Given the description of an element on the screen output the (x, y) to click on. 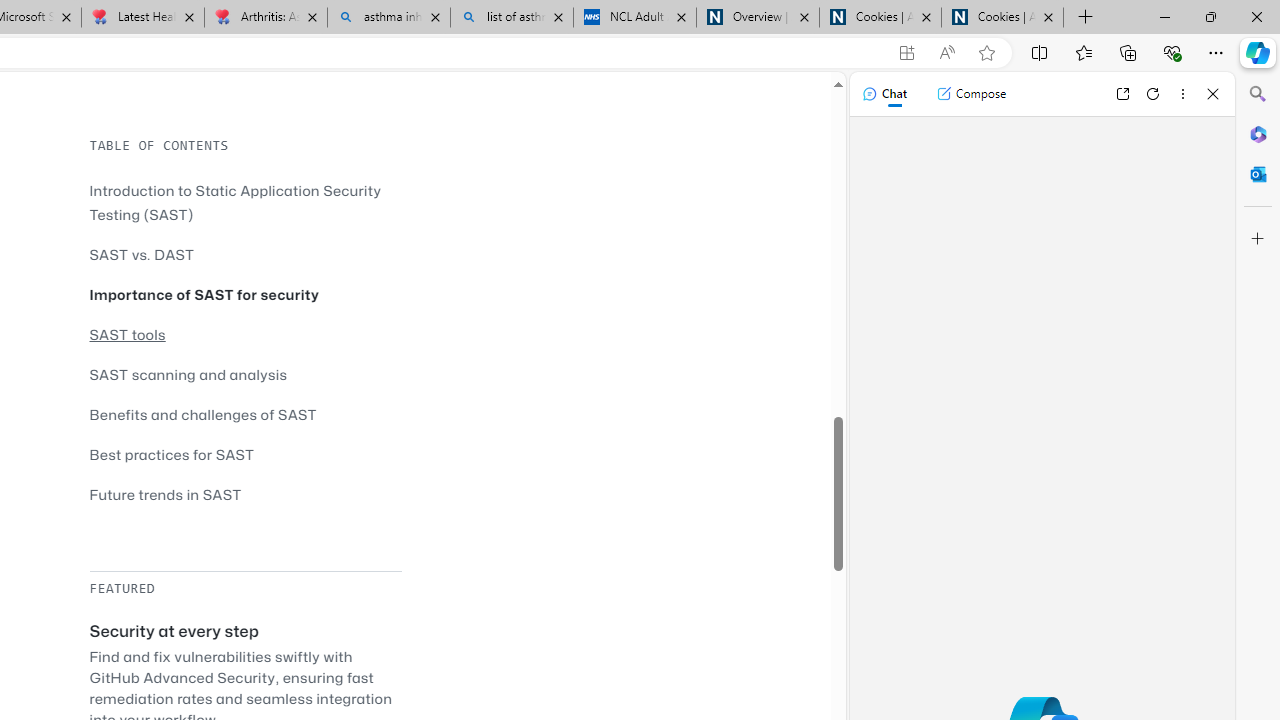
SAST vs. DAST (141, 254)
Future trends in SAST (165, 494)
SAST scanning and analysis (188, 374)
Importance of SAST for security (245, 294)
Future trends in SAST (245, 493)
Benefits and challenges of SAST (203, 414)
